Given the description of an element on the screen output the (x, y) to click on. 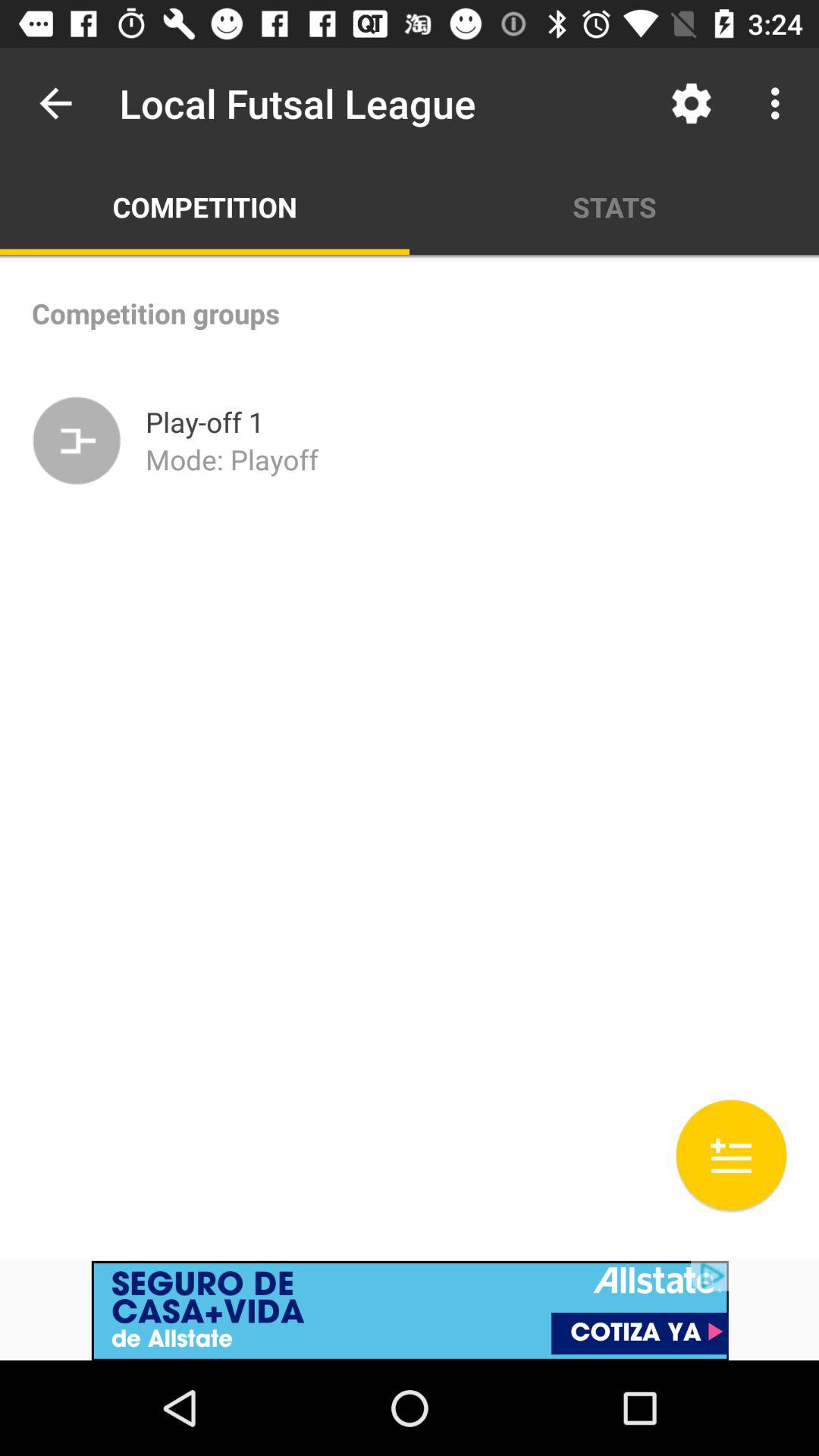
go to advertisement (409, 1310)
